Given the description of an element on the screen output the (x, y) to click on. 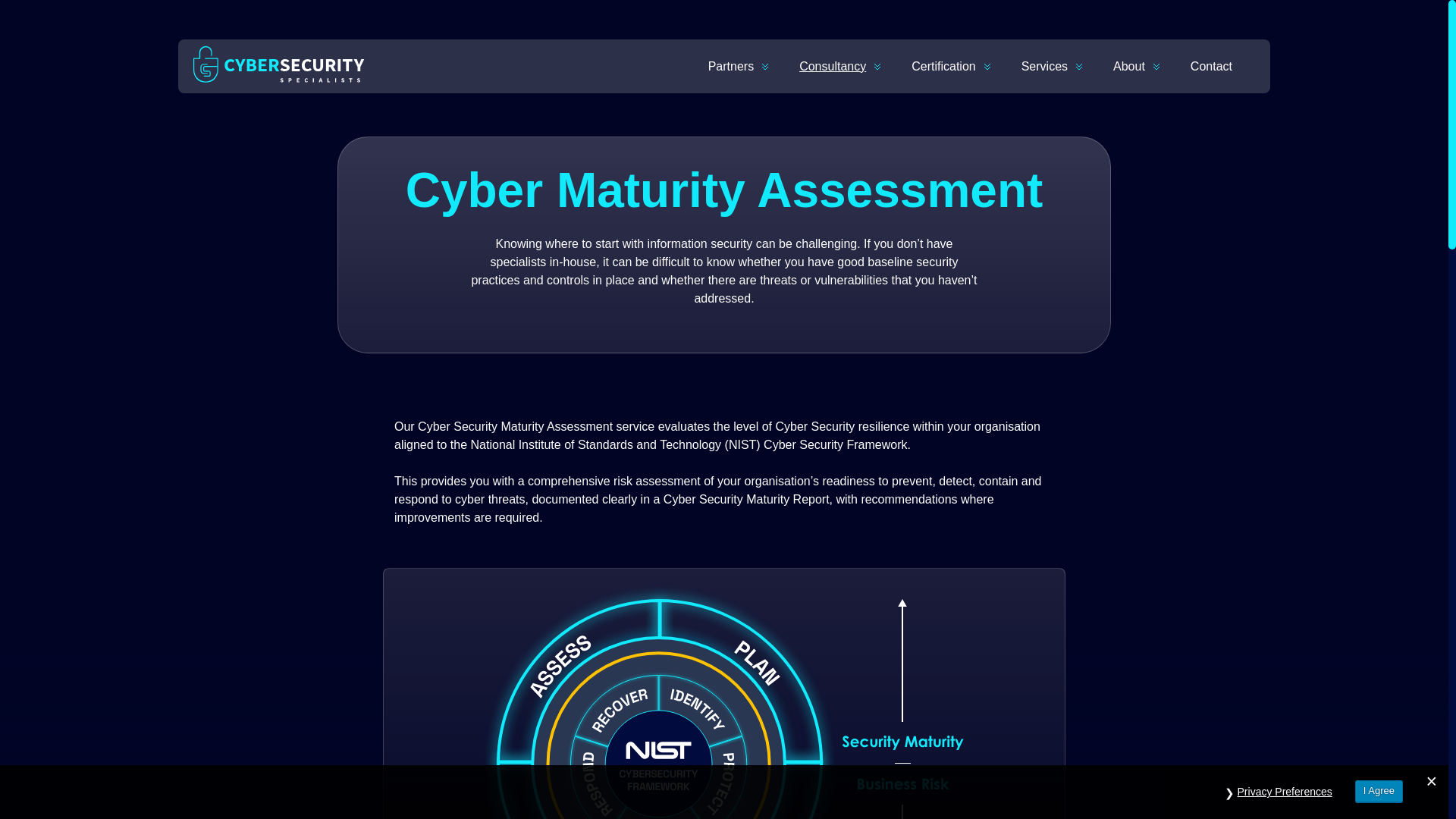
Consultancy (832, 66)
Contact (1211, 66)
Chat Widget (37, 782)
Certification (942, 66)
About (1128, 66)
Partners (730, 66)
Services (1044, 66)
